Given the description of an element on the screen output the (x, y) to click on. 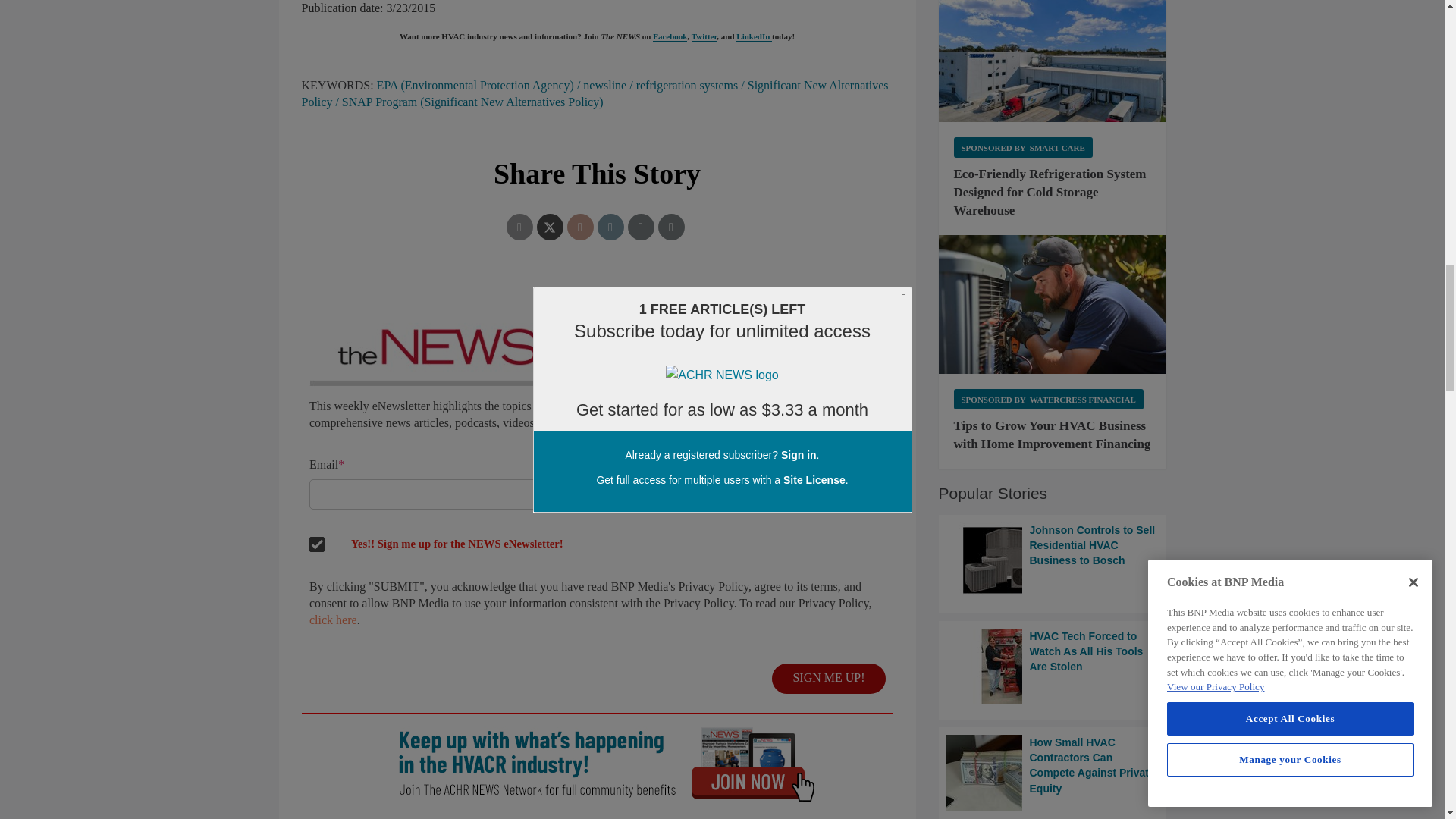
Sponsored by Smart Care (1023, 147)
HVAC Tech Forced to Watch As All His Tools Are Stolen (1052, 666)
Johnson Controls to Sell Residential HVAC Business to Bosch (1052, 560)
Technician Working on HVAC Unit (1052, 304)
Texas Frio Cold Storage (1052, 61)
Sponsored by Watercress Financial (1047, 399)
